Given the description of an element on the screen output the (x, y) to click on. 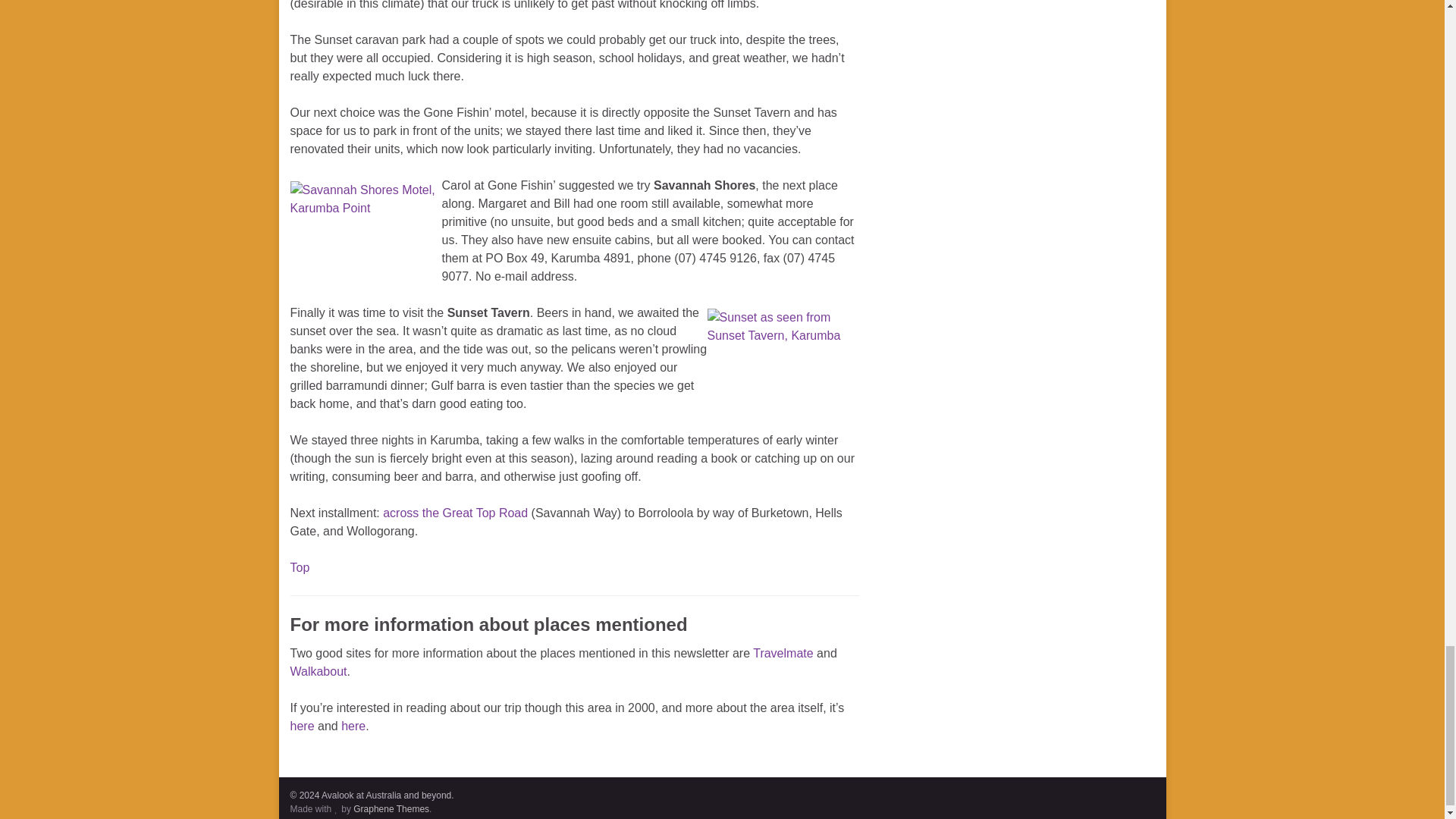
here (352, 725)
Top (298, 567)
across the Great Top Road (454, 512)
Sunset as seen from Sunset Tavern, Karumba (782, 359)
here (301, 725)
Walkabout (317, 671)
Travelmate (782, 653)
Savannah Shores Motel, Karumba Point (365, 228)
